Given the description of an element on the screen output the (x, y) to click on. 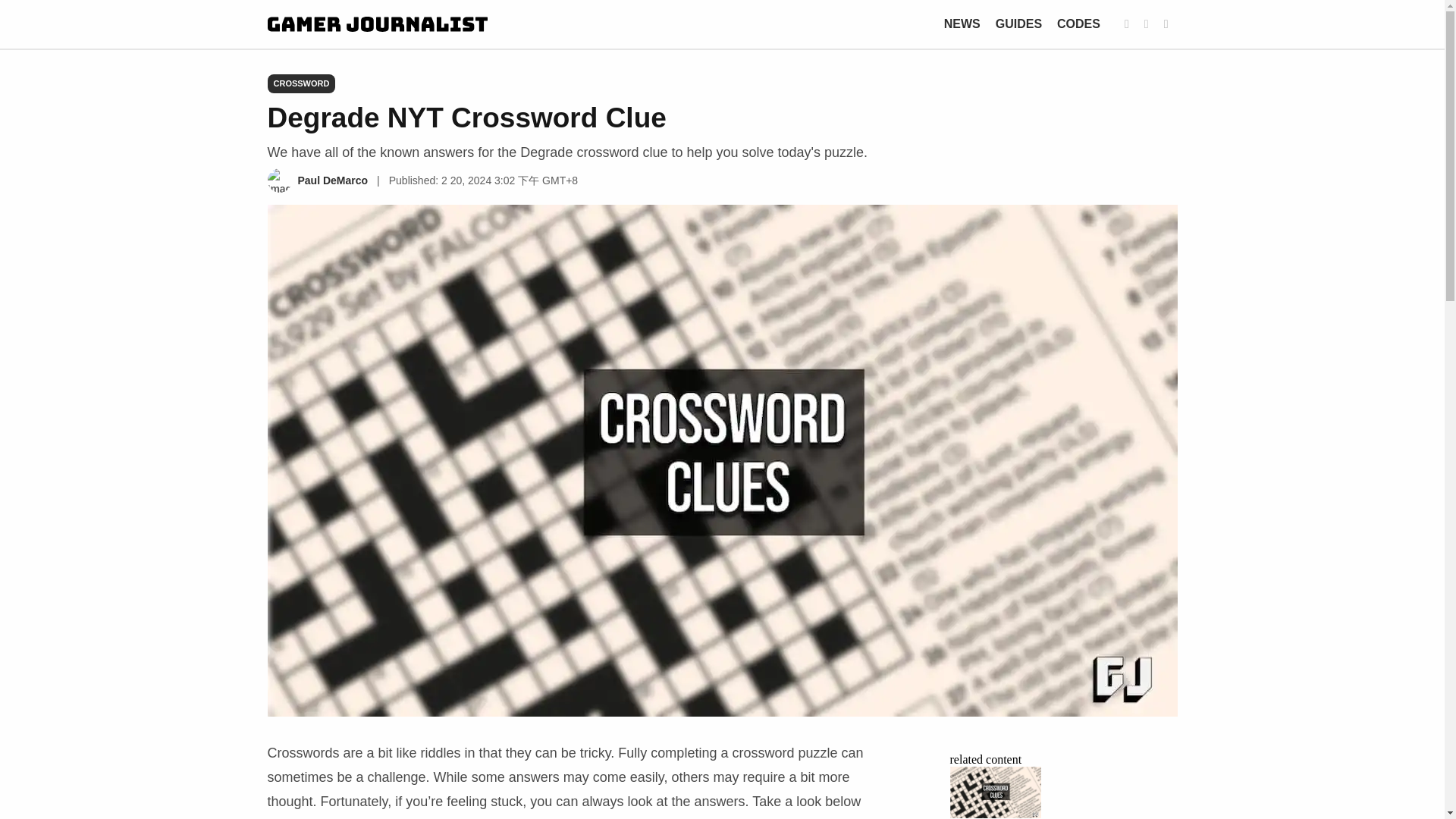
CODES (1078, 23)
GUIDES (1018, 23)
NEWS (961, 23)
